Given the description of an element on the screen output the (x, y) to click on. 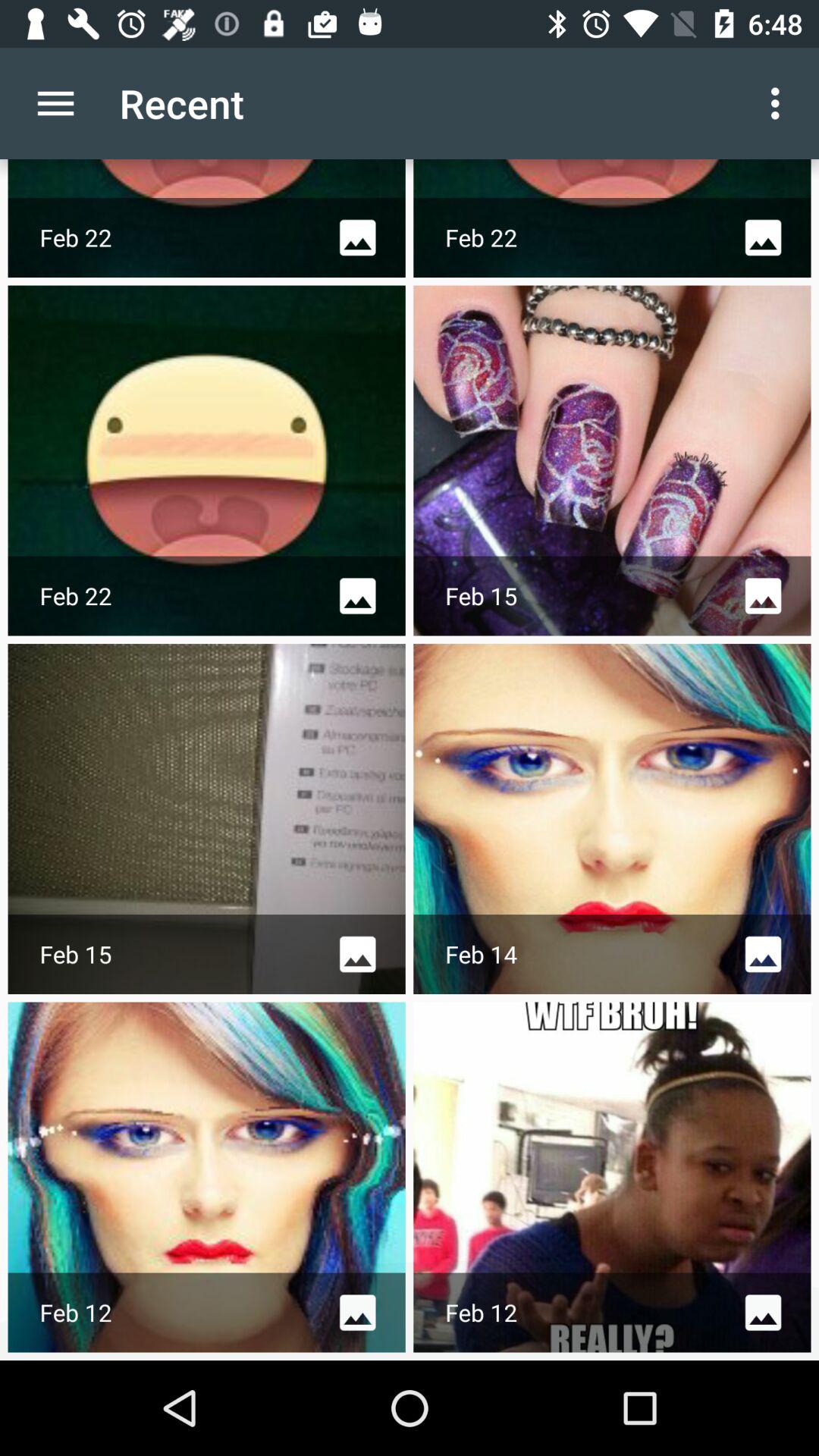
tap icon next to the recent (55, 103)
